Given the description of an element on the screen output the (x, y) to click on. 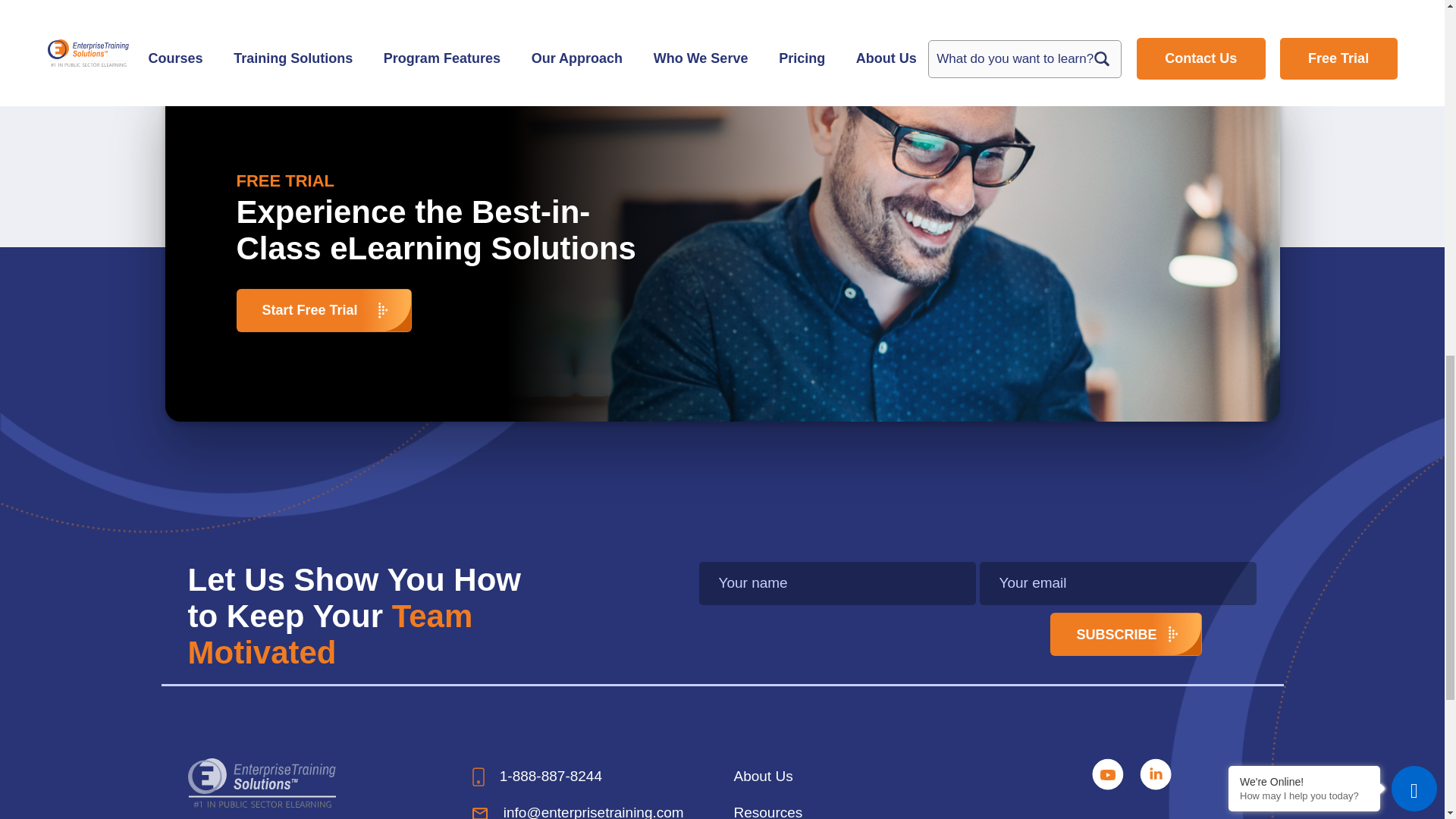
Enterprise Training and Government Training on Youtube (1110, 772)
Enterprise Training and Government Training on LinkedIn (1155, 772)
SUBSCRIBE (1125, 634)
